Given the description of an element on the screen output the (x, y) to click on. 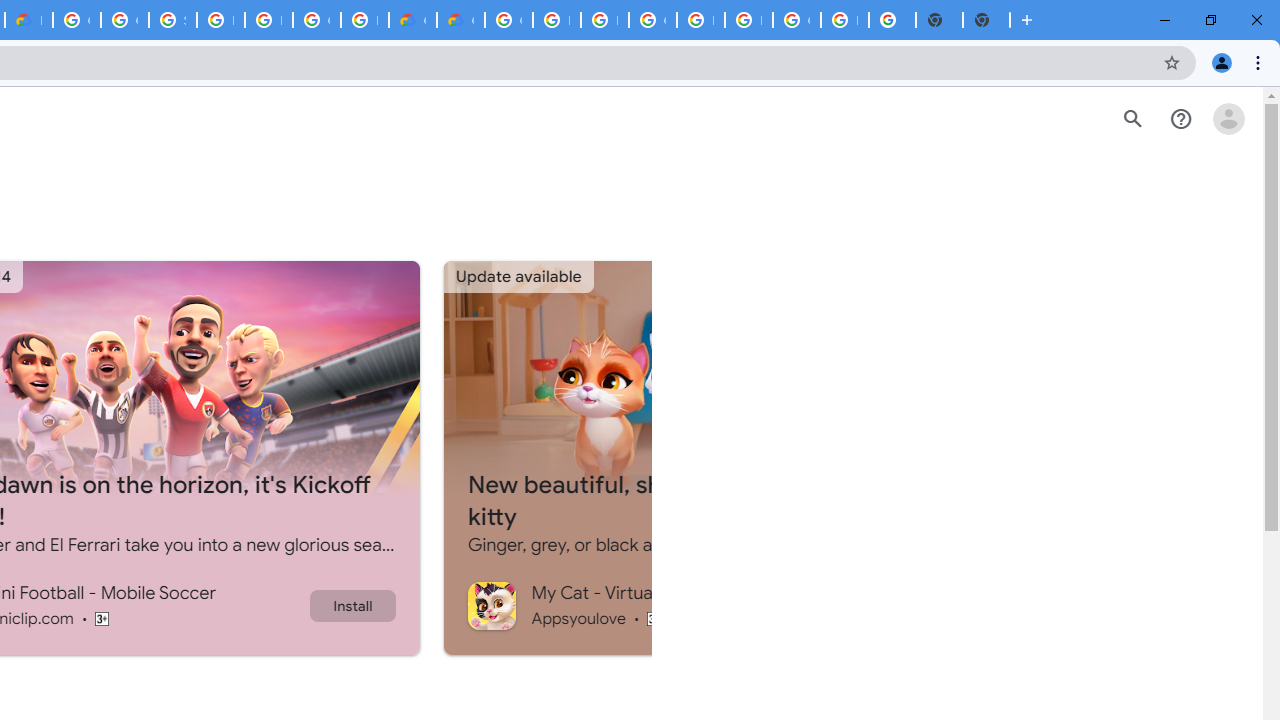
Help Center (1180, 119)
New Tab (985, 20)
Sign in - Google Accounts (172, 20)
Browse Chrome as a guest - Computer - Google Chrome Help (556, 20)
Google Cloud Platform (796, 20)
